Given the description of an element on the screen output the (x, y) to click on. 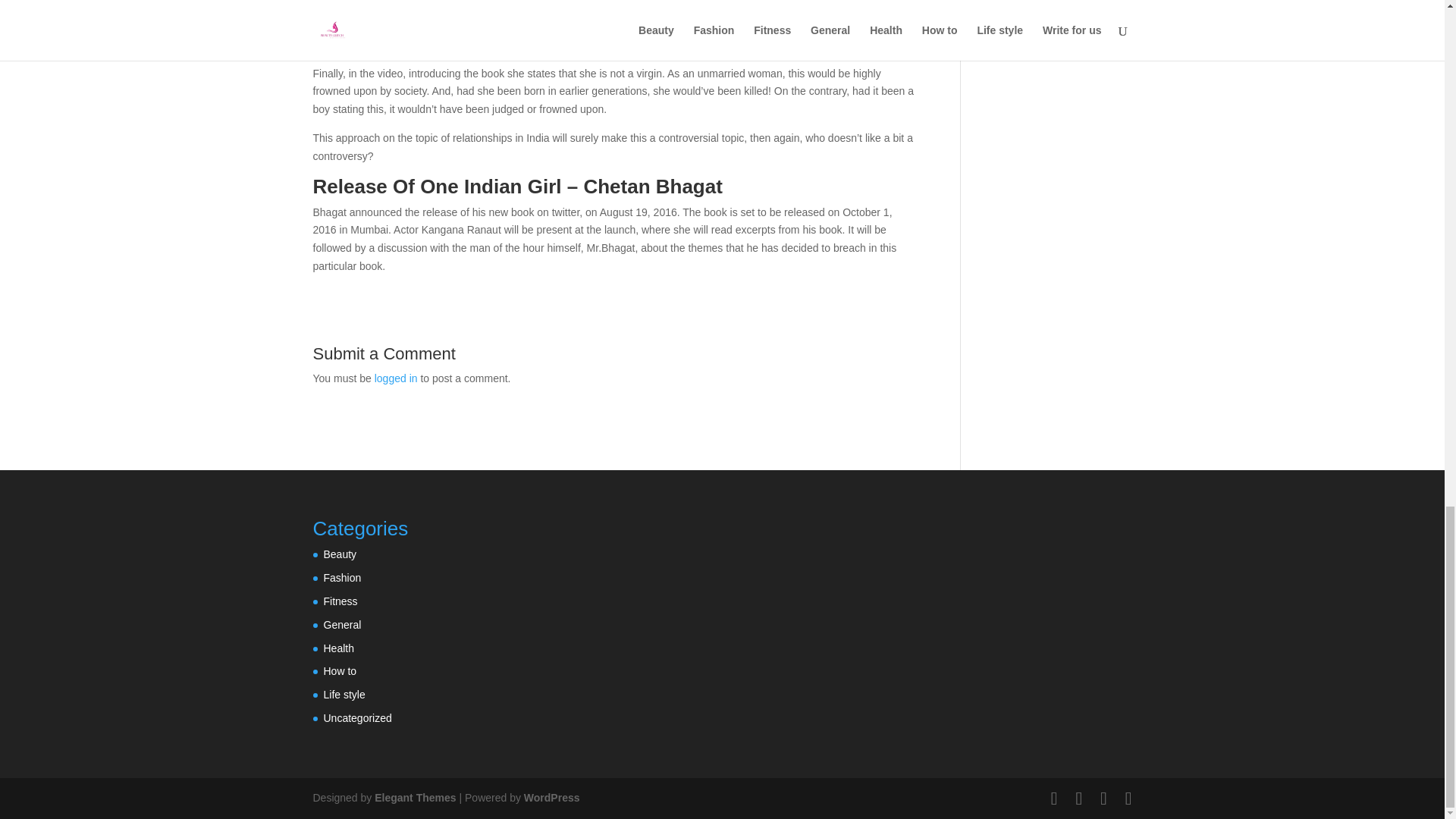
Premium WordPress Themes (414, 797)
logged in (395, 378)
Beauty (339, 553)
